Given the description of an element on the screen output the (x, y) to click on. 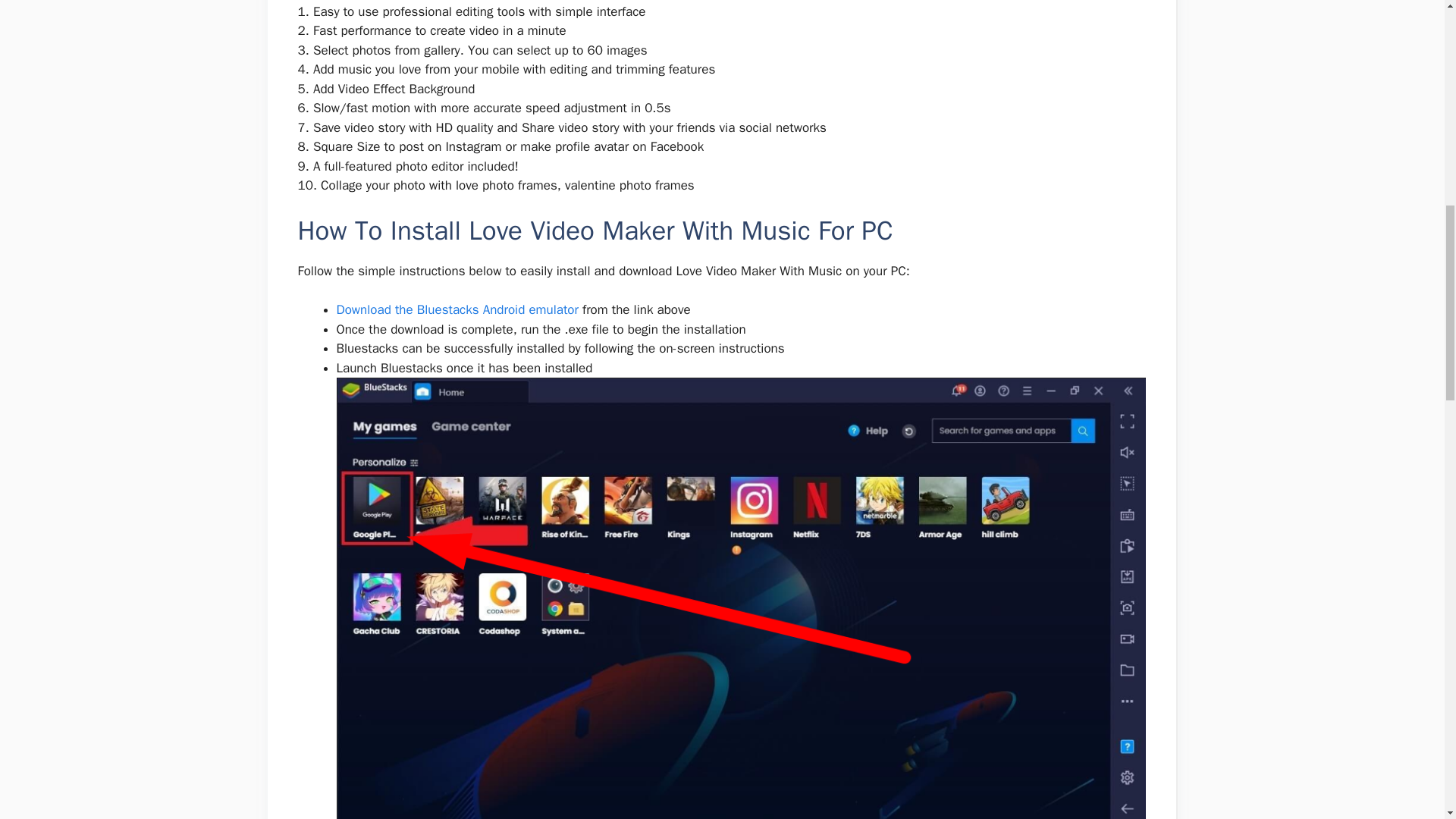
Download the Bluestacks Android emulator (459, 309)
